Given the description of an element on the screen output the (x, y) to click on. 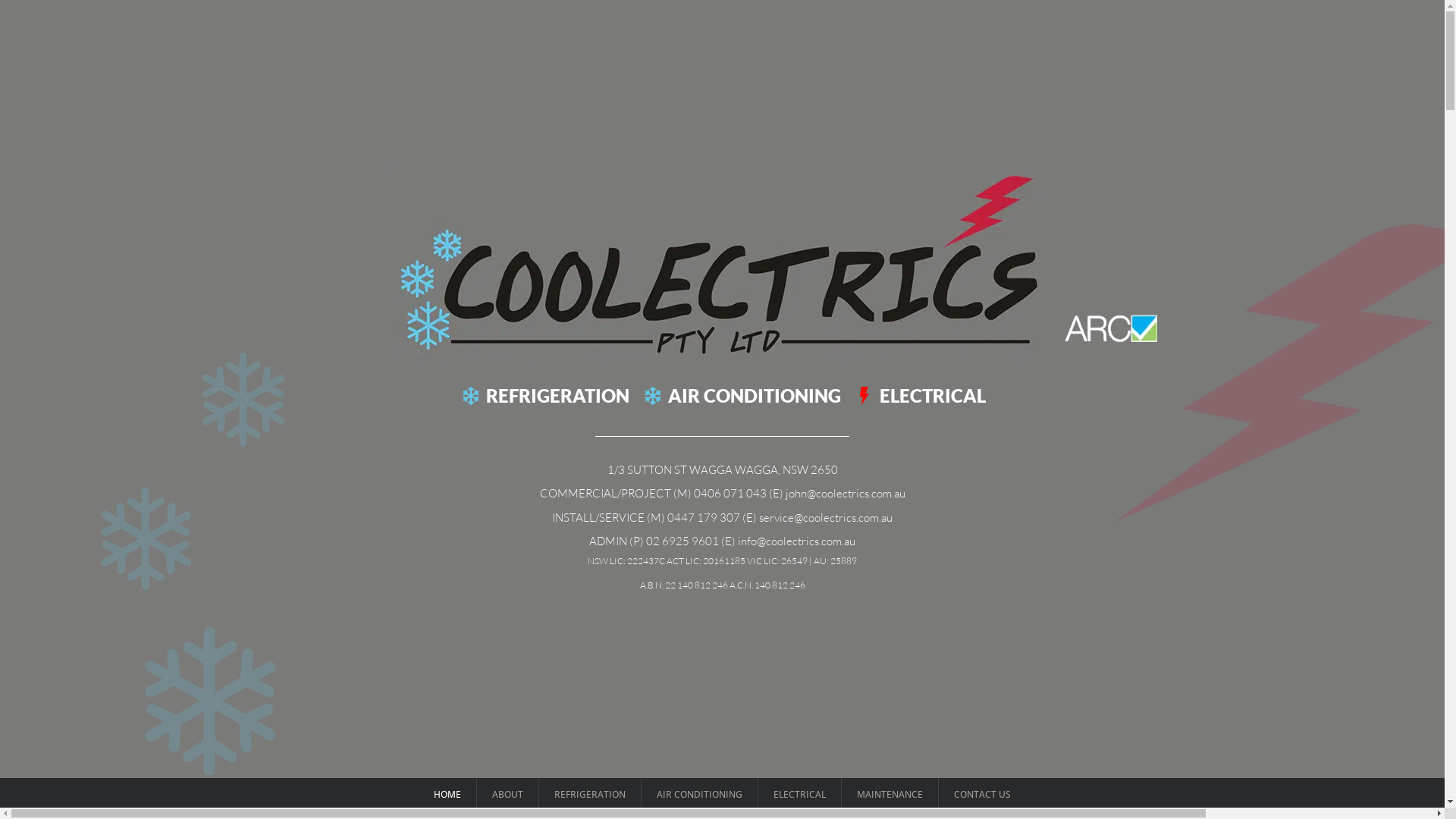
CONTACT US Element type: text (982, 794)
ABOUT Element type: text (507, 794)
AIR CONDITIONING Element type: text (699, 794)
MAINTENANCE Element type: text (889, 794)
HOME Element type: text (447, 794)
ELECTRICAL Element type: text (799, 794)
REFRIGERATION Element type: text (589, 794)
